Given the description of an element on the screen output the (x, y) to click on. 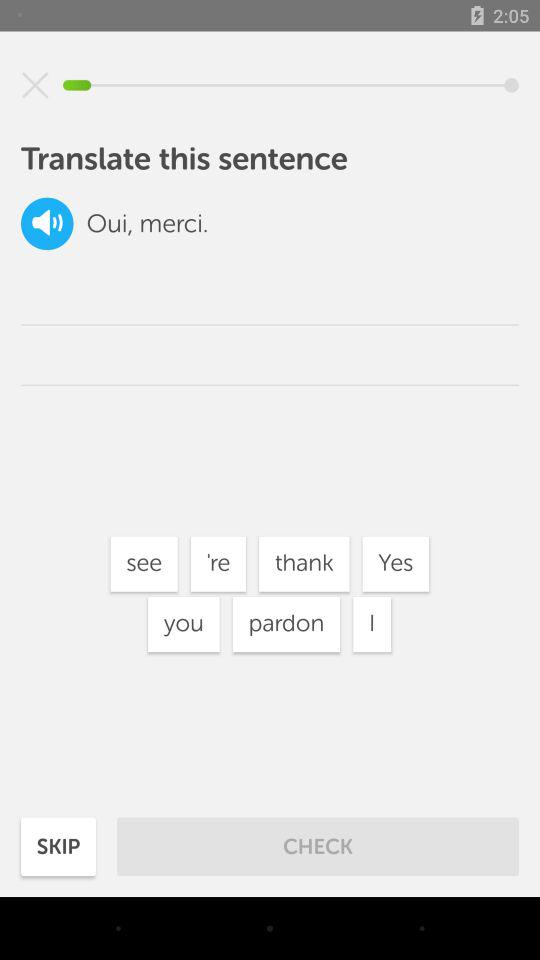
turn on yes icon (395, 563)
